Given the description of an element on the screen output the (x, y) to click on. 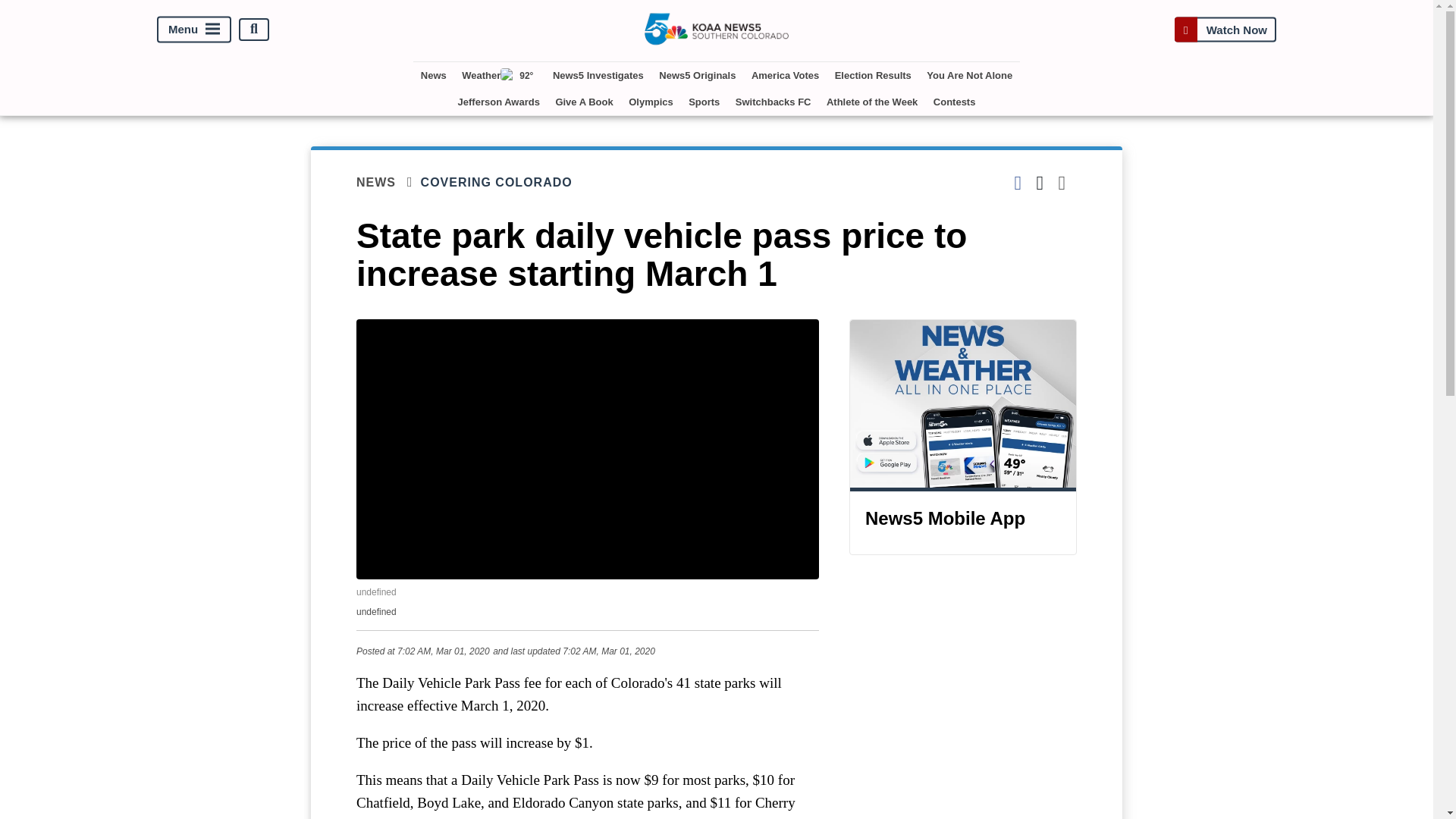
Menu (194, 28)
Watch Now (1224, 29)
